Given the description of an element on the screen output the (x, y) to click on. 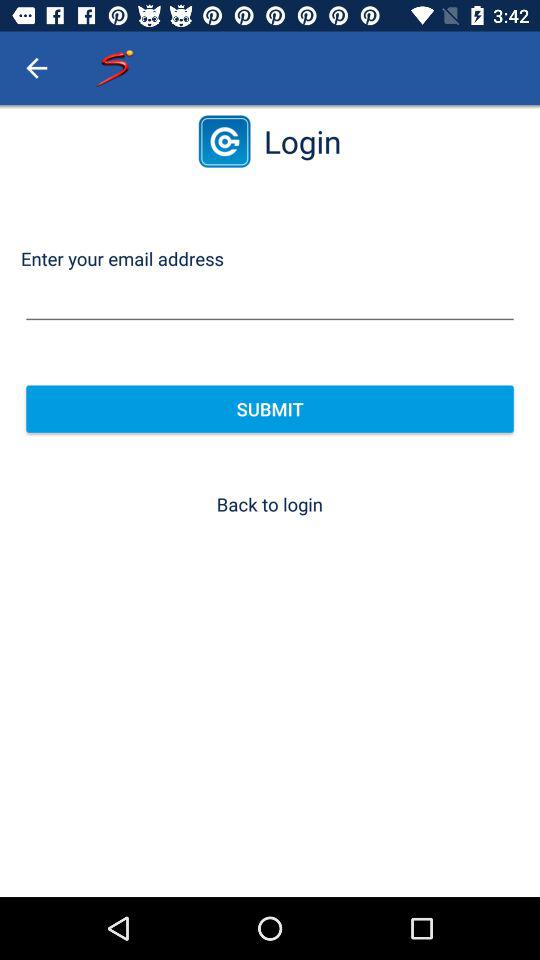
flip to the back to login (269, 503)
